Given the description of an element on the screen output the (x, y) to click on. 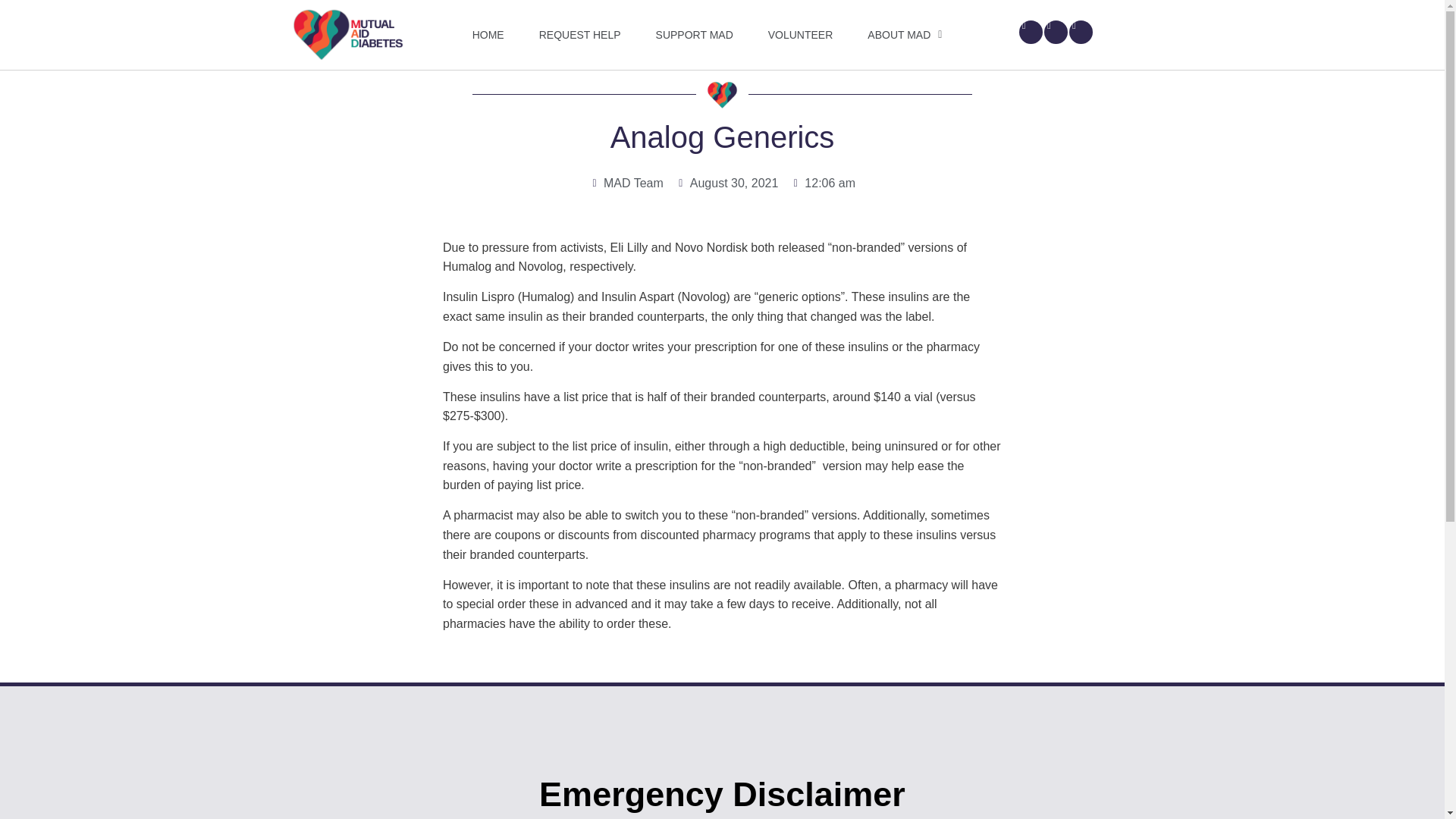
VOLUNTEER (800, 34)
REQUEST HELP (580, 34)
August 30, 2021 (726, 183)
ABOUT MAD (903, 34)
HOME (488, 34)
SUPPORT MAD (694, 34)
